Given the description of an element on the screen output the (x, y) to click on. 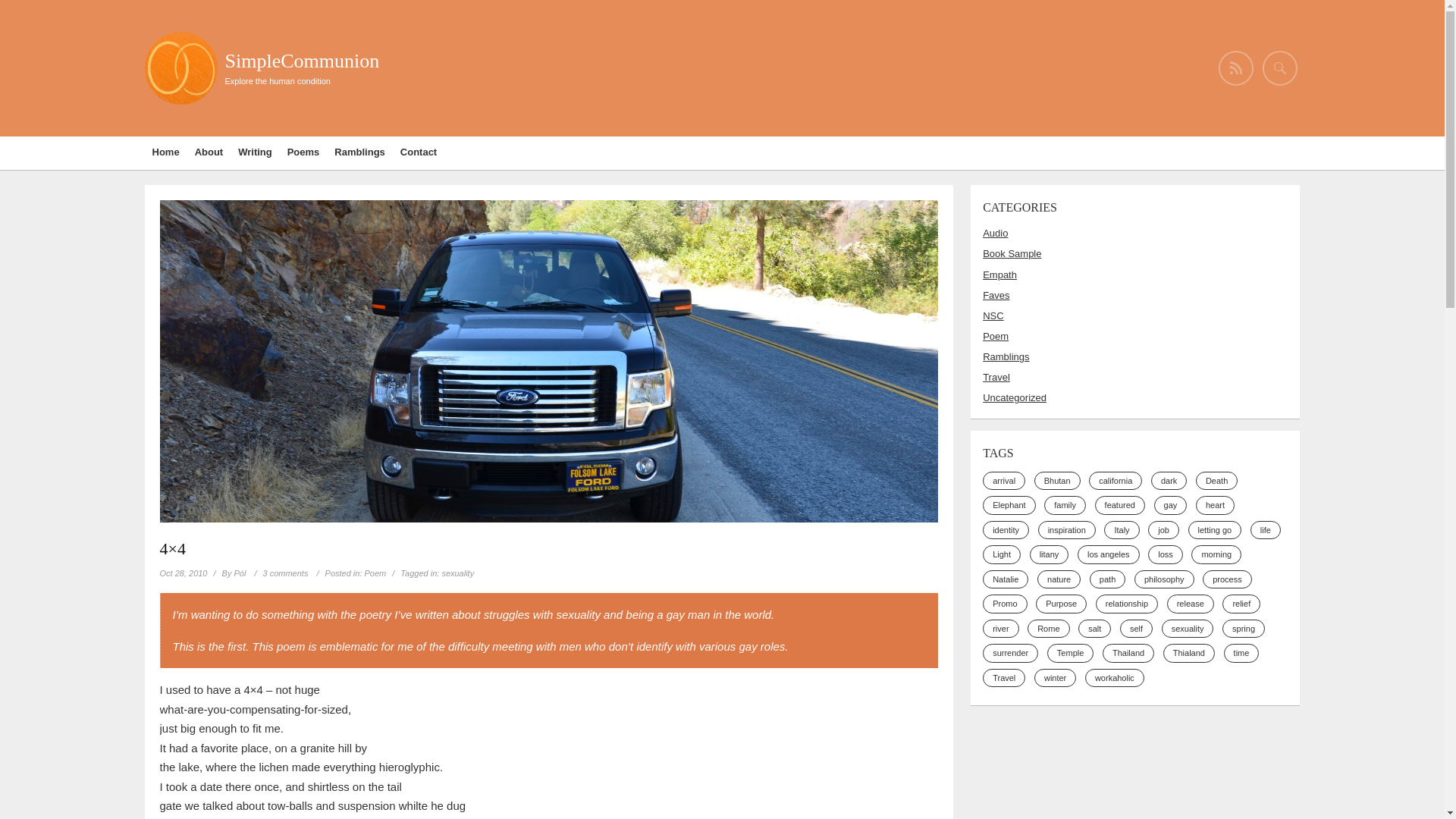
Ramblings (358, 152)
Contact (418, 152)
17:17 (182, 573)
Poems (303, 152)
Writing (254, 152)
Search (22, 12)
Home (165, 152)
SimpleCommunion (301, 60)
About (209, 152)
Oct 28, 2010 (182, 573)
